Given the description of an element on the screen output the (x, y) to click on. 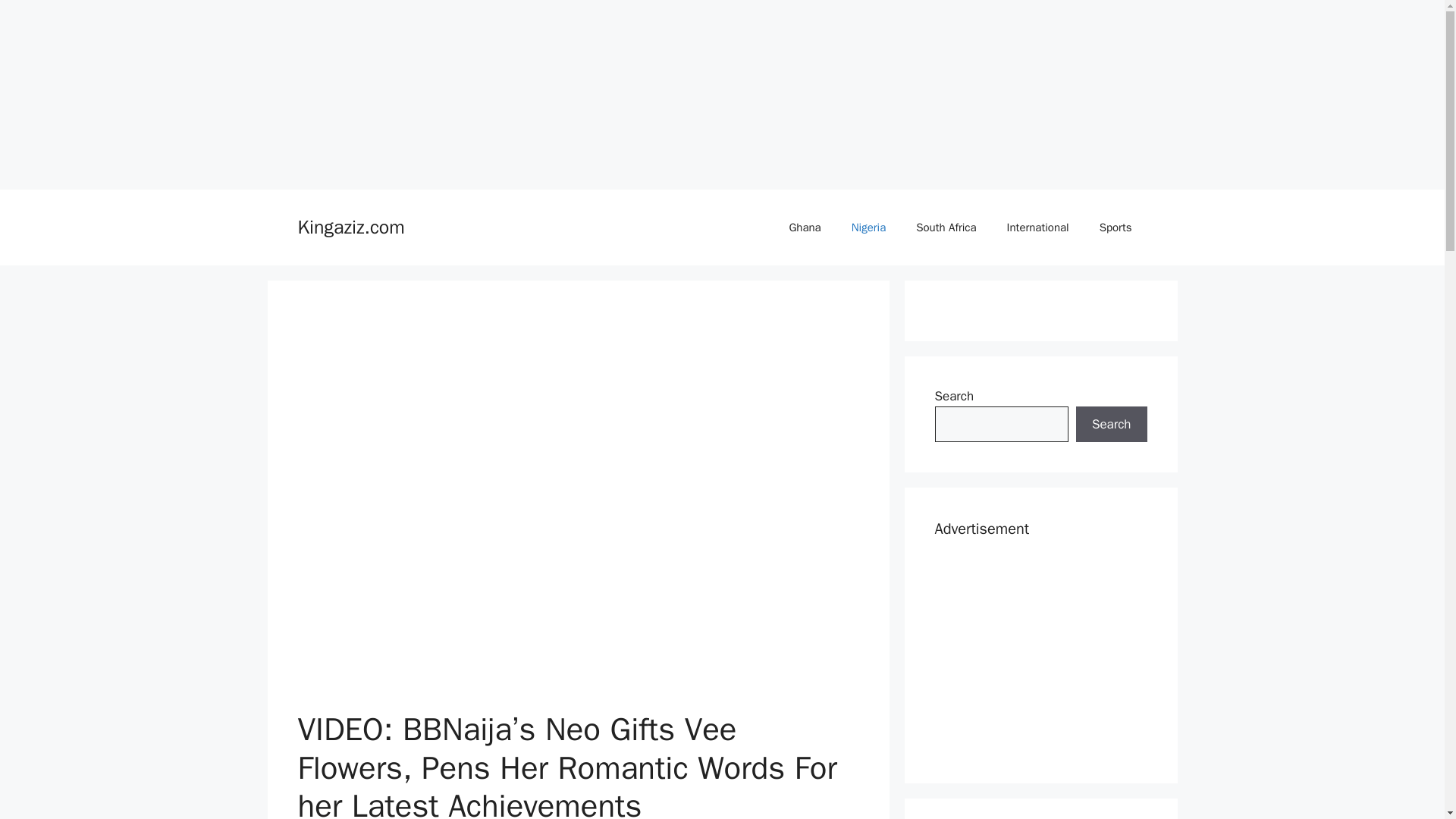
South Africa (946, 227)
Kingaziz.com (350, 227)
International (1037, 227)
Ghana (804, 227)
Nigeria (868, 227)
Sports (1115, 227)
Search (1111, 424)
